Given the description of an element on the screen output the (x, y) to click on. 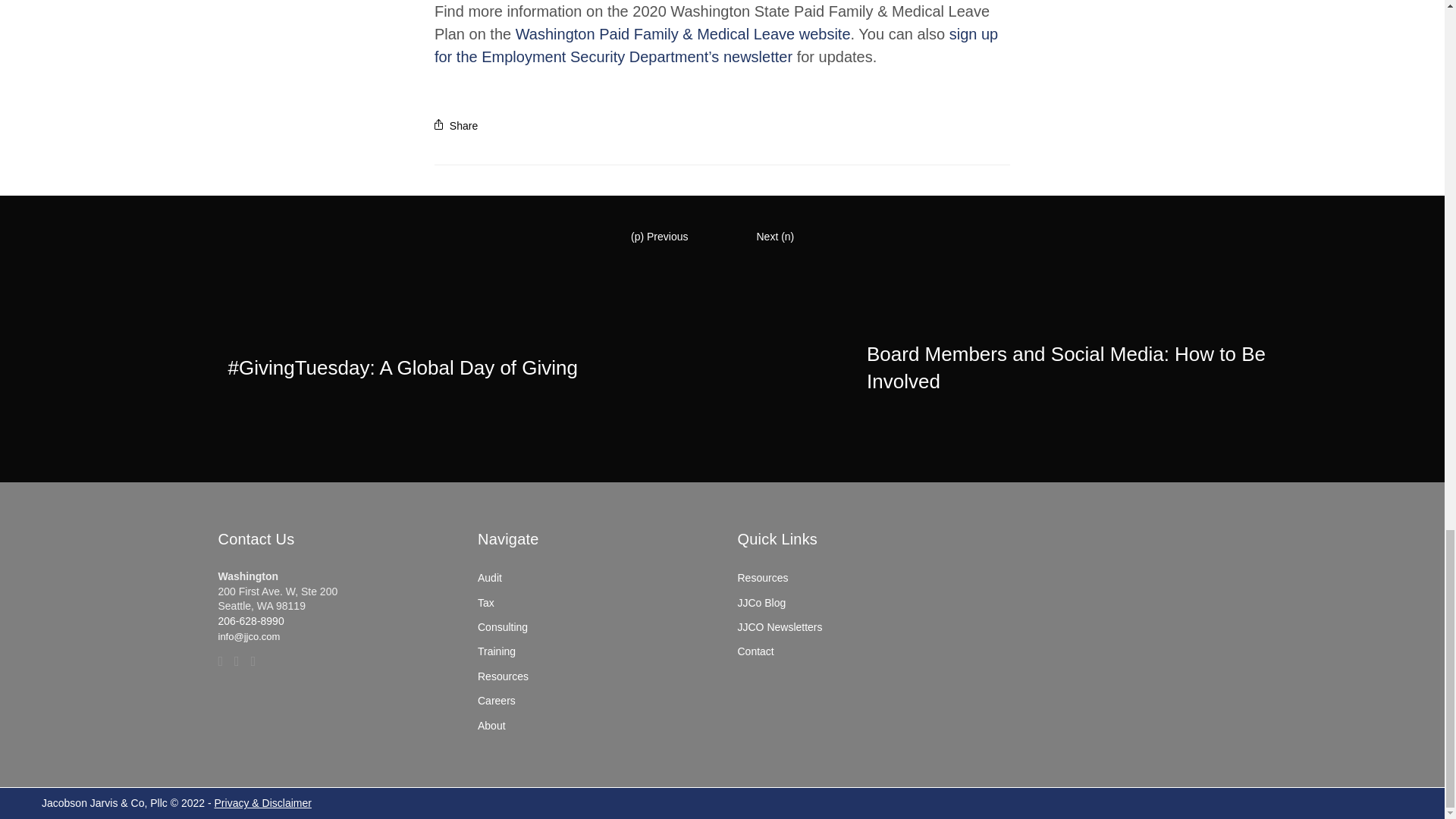
Share (455, 125)
